Given the description of an element on the screen output the (x, y) to click on. 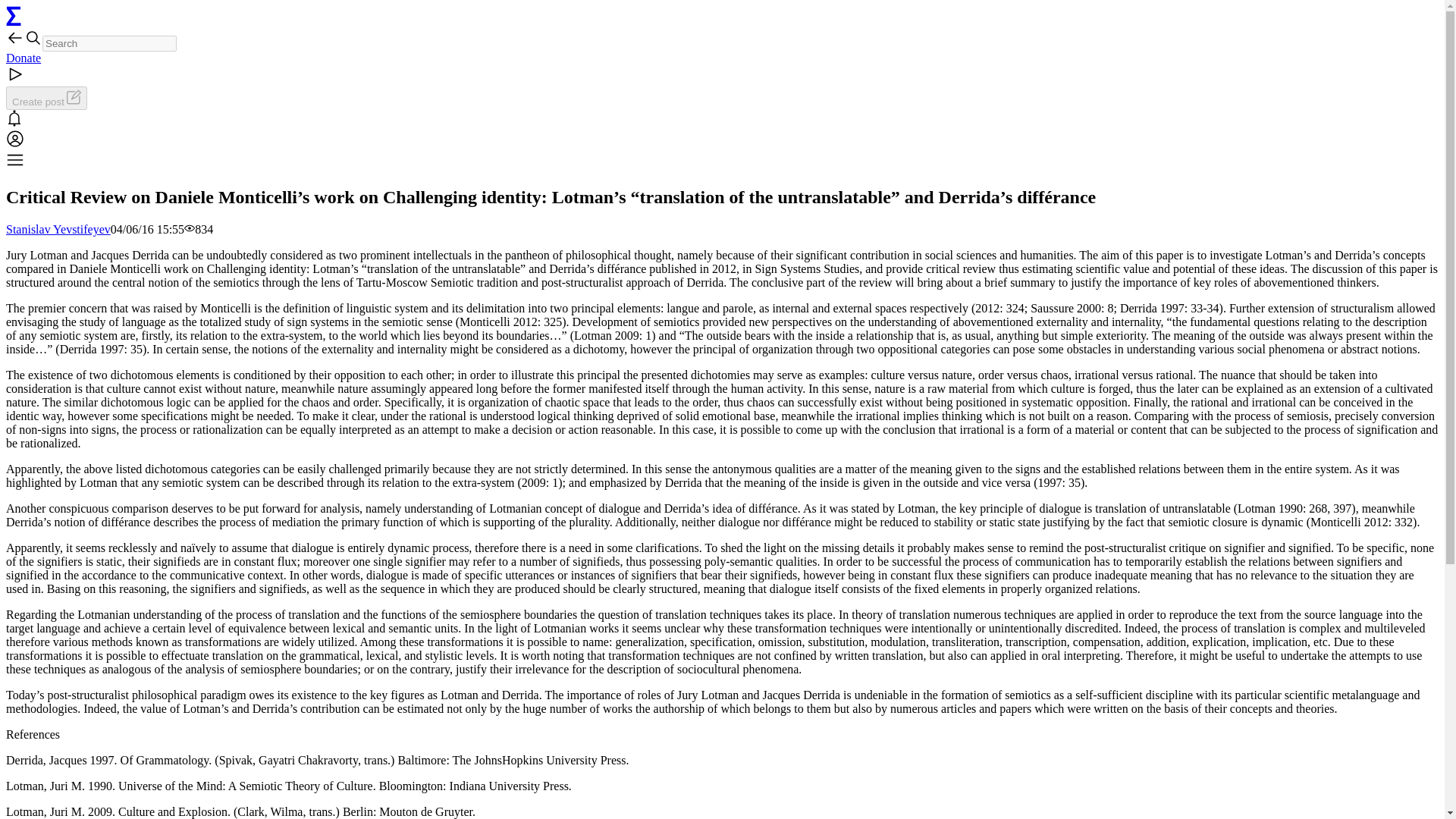
Donate (22, 57)
Stanislav Yevstifeyev (57, 228)
Create post (46, 97)
Create post (46, 97)
